Given the description of an element on the screen output the (x, y) to click on. 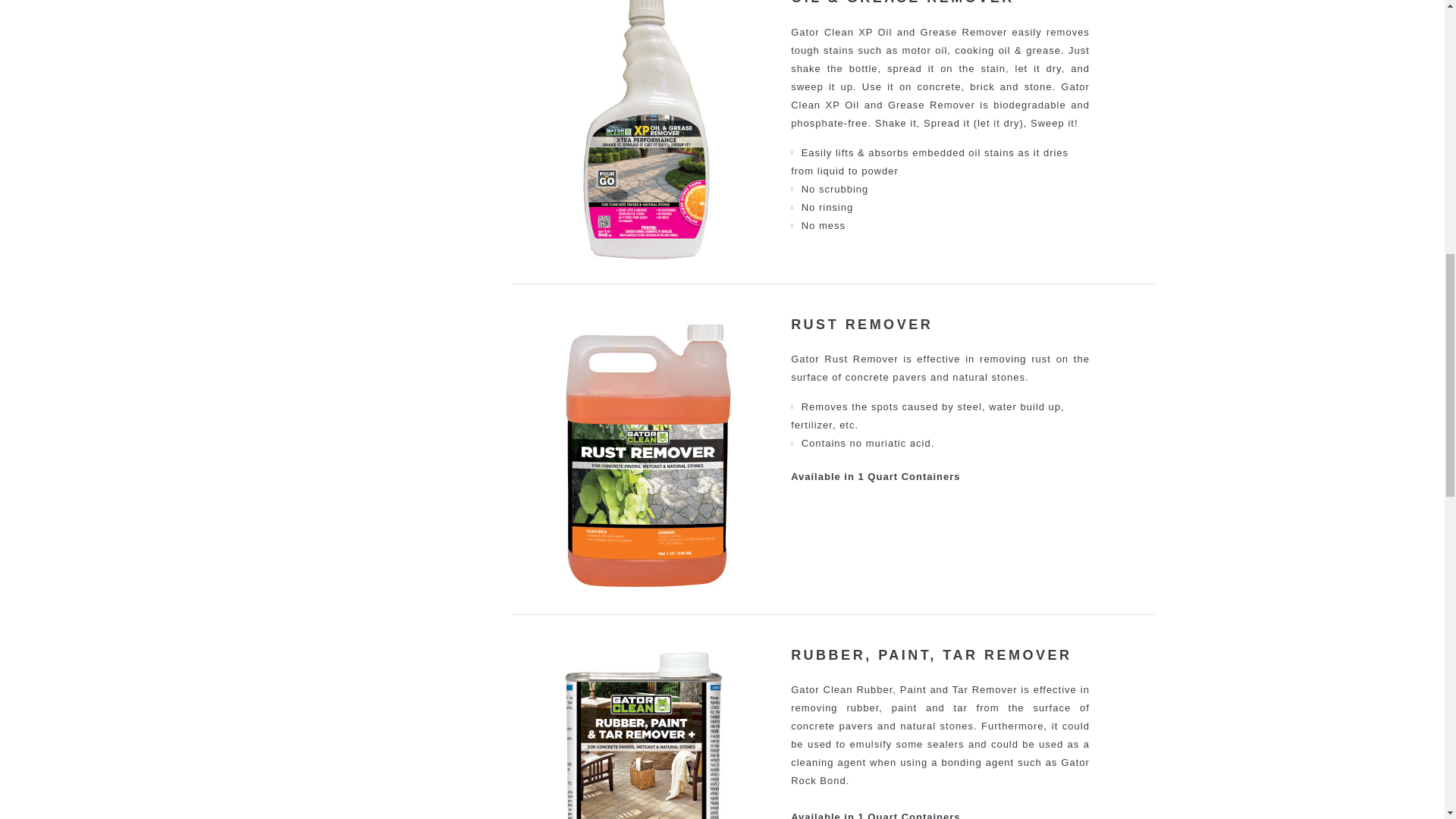
Rubber, Paint, Tar Remover (645, 732)
